Given the description of an element on the screen output the (x, y) to click on. 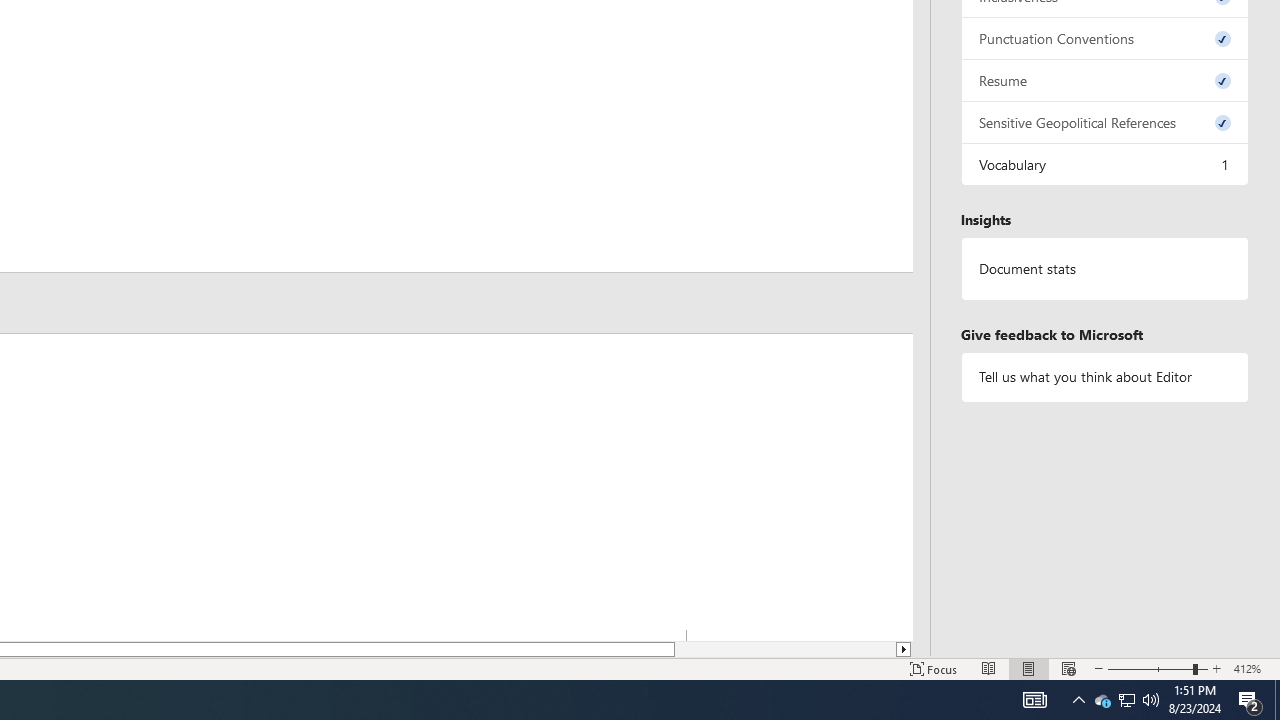
User Promoted Notification Area (1126, 699)
Column right (904, 649)
